Given the description of an element on the screen output the (x, y) to click on. 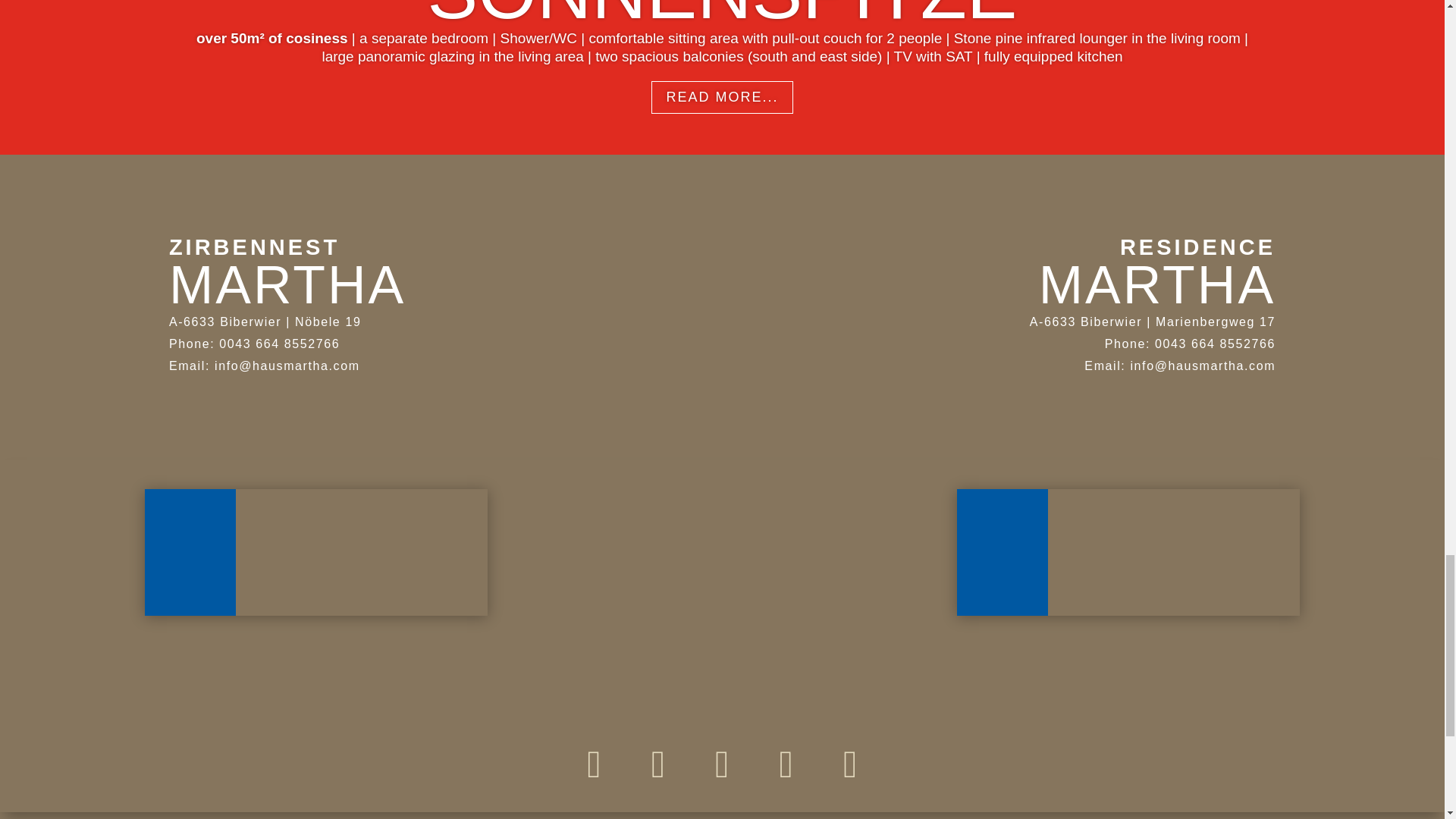
M-INV-4 (721, 421)
